Given the description of an element on the screen output the (x, y) to click on. 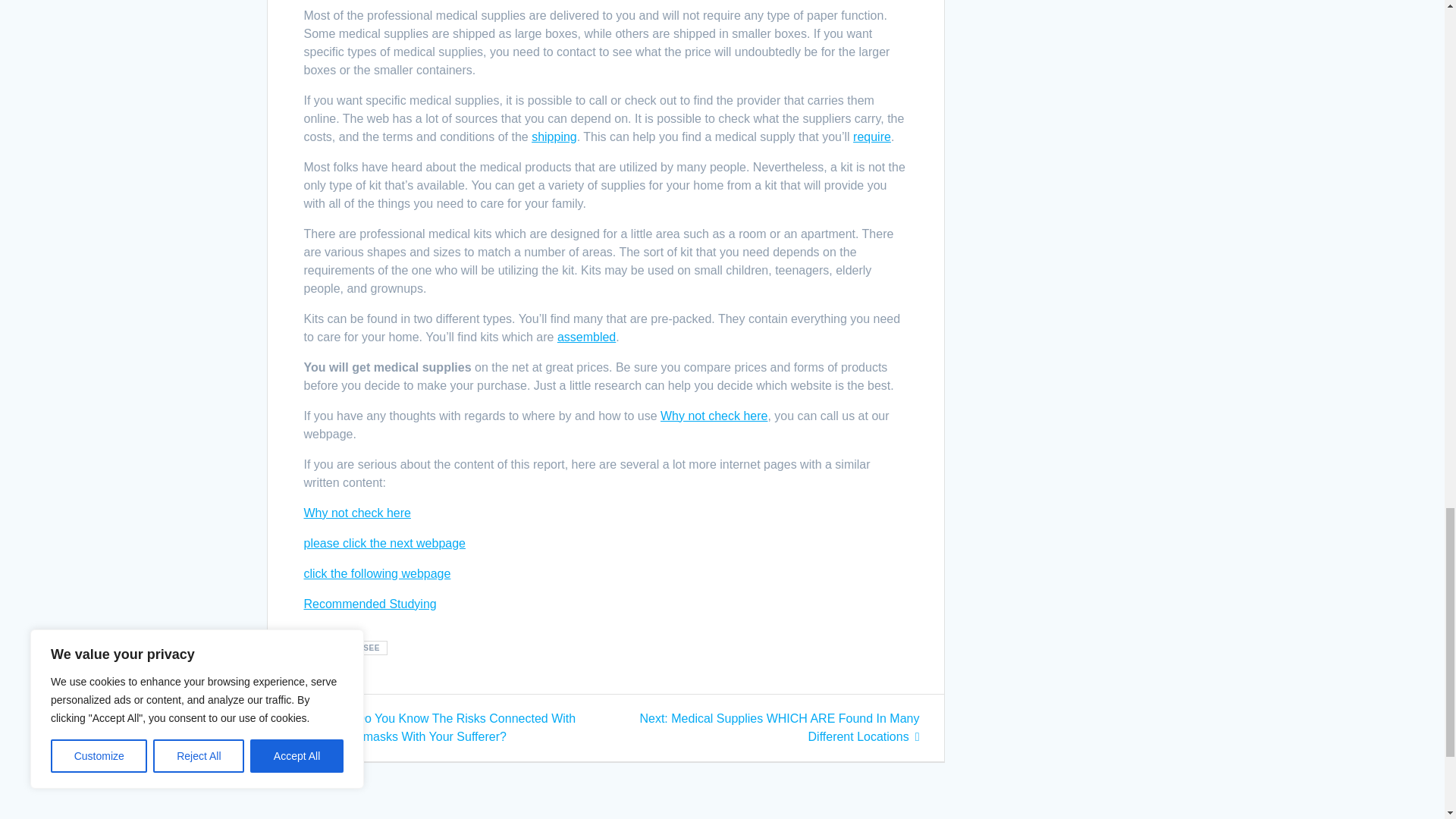
shipping (553, 100)
assembled (586, 300)
click the following webpage (375, 536)
Why not check here (714, 379)
require (872, 100)
please click the next webpage (383, 506)
Recommended Studying (368, 567)
Why not check here (356, 476)
